Given the description of an element on the screen output the (x, y) to click on. 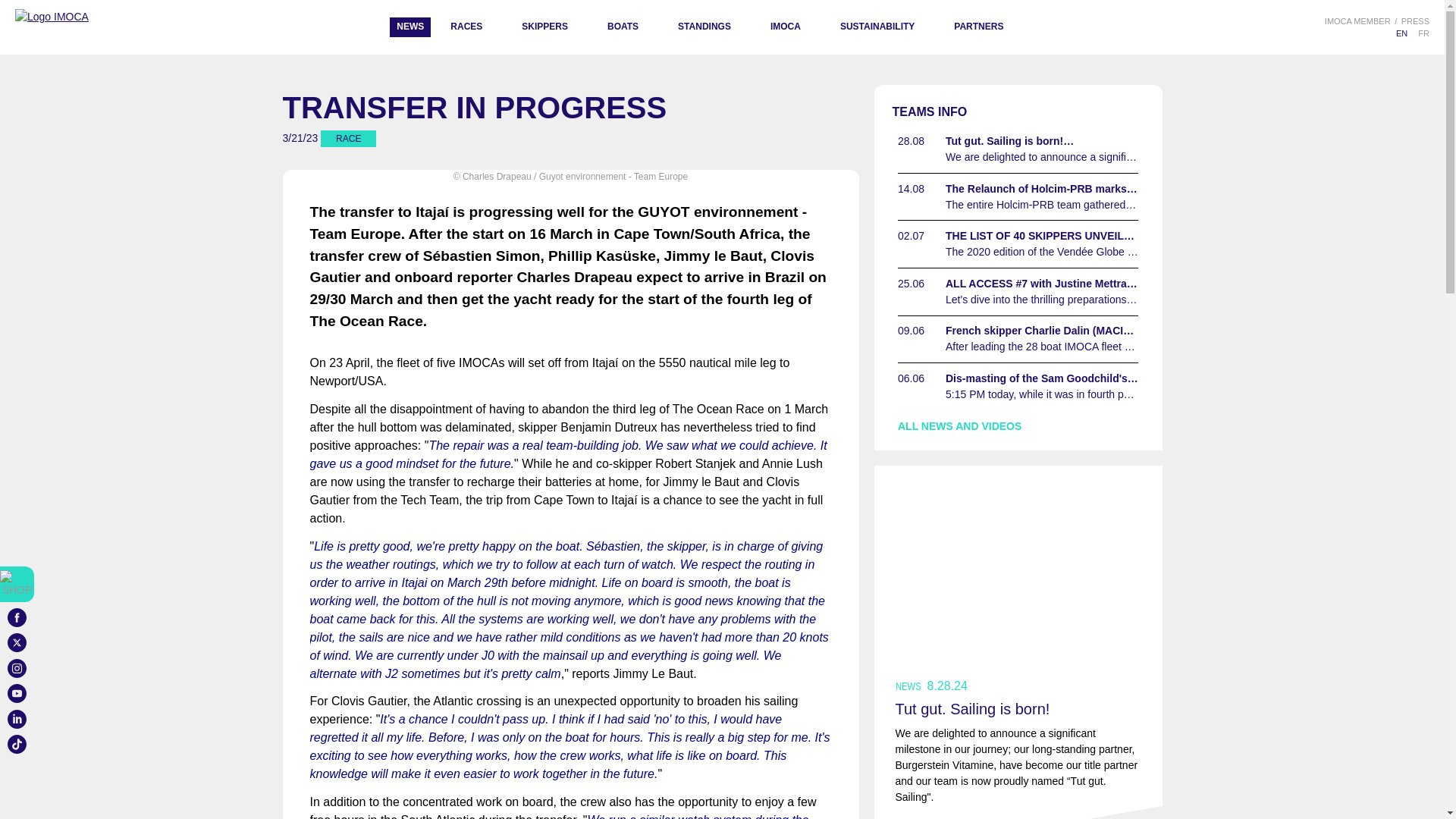
IMOCA (785, 26)
STANDINGS (703, 26)
BOATS (622, 26)
INSTAGRAM (16, 667)
TIKTOK (16, 743)
TWITTER (16, 642)
SUSTAINABILITY (876, 26)
NEWS (409, 26)
PARTNERS (978, 26)
IMOCA MEMBER (1357, 21)
